Given the description of an element on the screen output the (x, y) to click on. 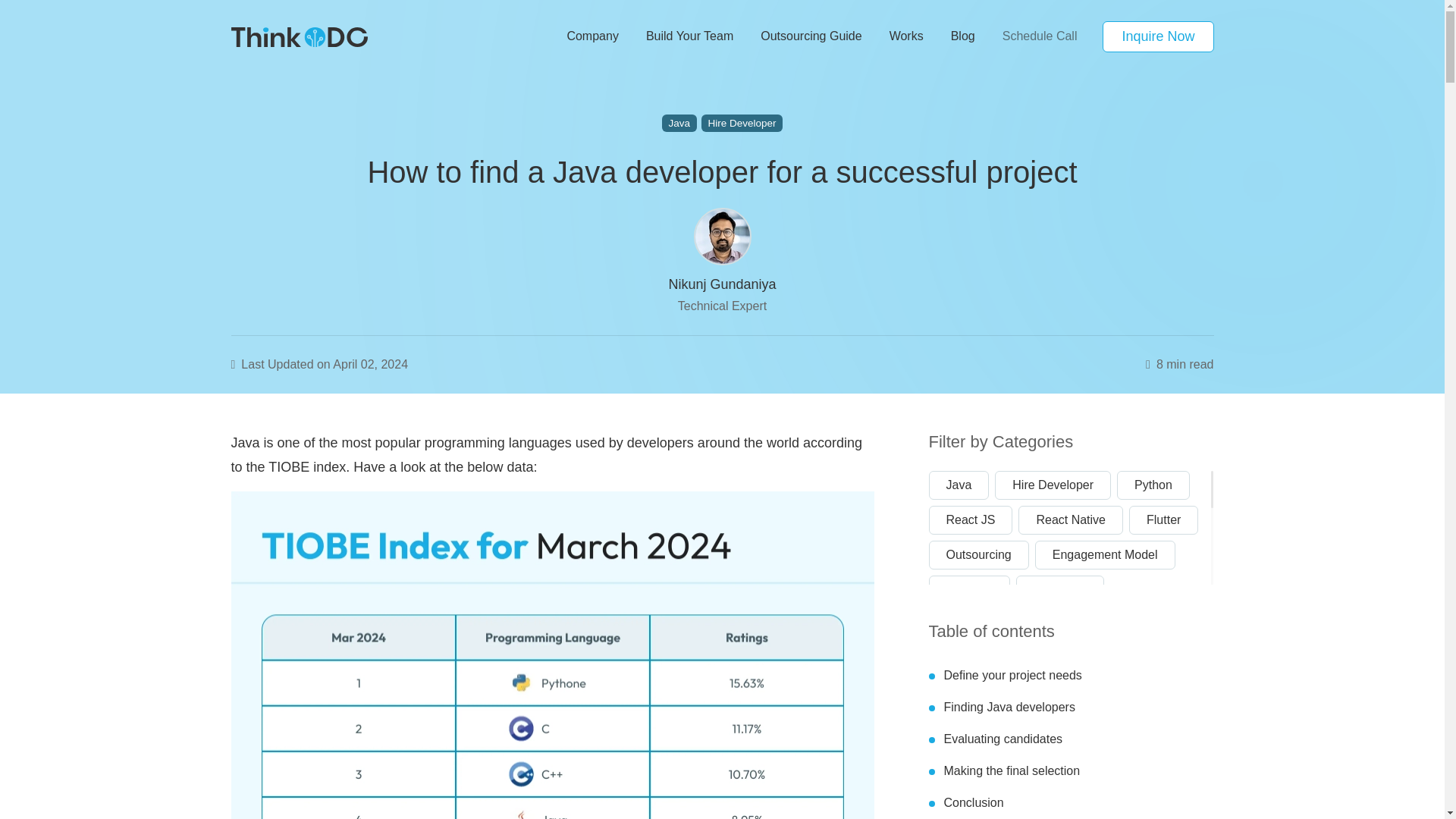
Build Your Team (688, 36)
Mobile App (1058, 658)
Software (1153, 658)
React JS (969, 519)
Outsourcing Guide (810, 36)
iOS (1098, 623)
Company (592, 36)
Staff Augmentation (996, 623)
Hire Developer (742, 122)
Node JS (968, 588)
Python (1152, 484)
Inquire Now (1157, 36)
Flutter (1163, 519)
Engagement Model (1104, 553)
Java (679, 122)
